Given the description of an element on the screen output the (x, y) to click on. 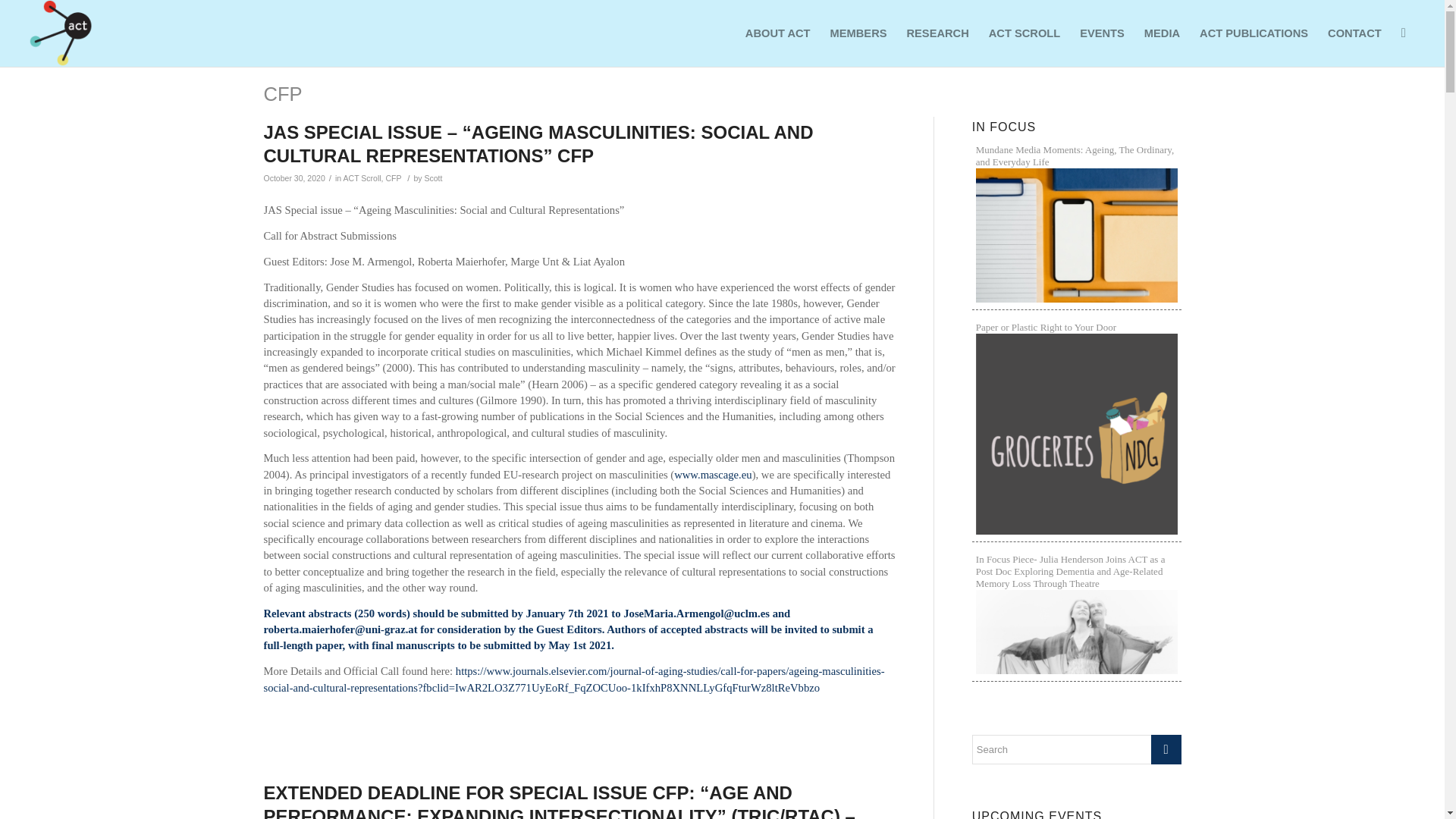
ABOUT ACT (778, 33)
ACT Scroll (362, 177)
MEDIA (1161, 33)
EVENTS (1102, 33)
Scott (433, 177)
www.mascage.eu (712, 474)
CFP (393, 177)
CFP (282, 93)
Posts by Scott (433, 177)
MEMBERS (858, 33)
RESEARCH (937, 33)
CONTACT (1354, 33)
ACT PUBLICATIONS (1253, 33)
ACT SCROLL (1024, 33)
Permanent Link:  CFP (282, 93)
